Given the description of an element on the screen output the (x, y) to click on. 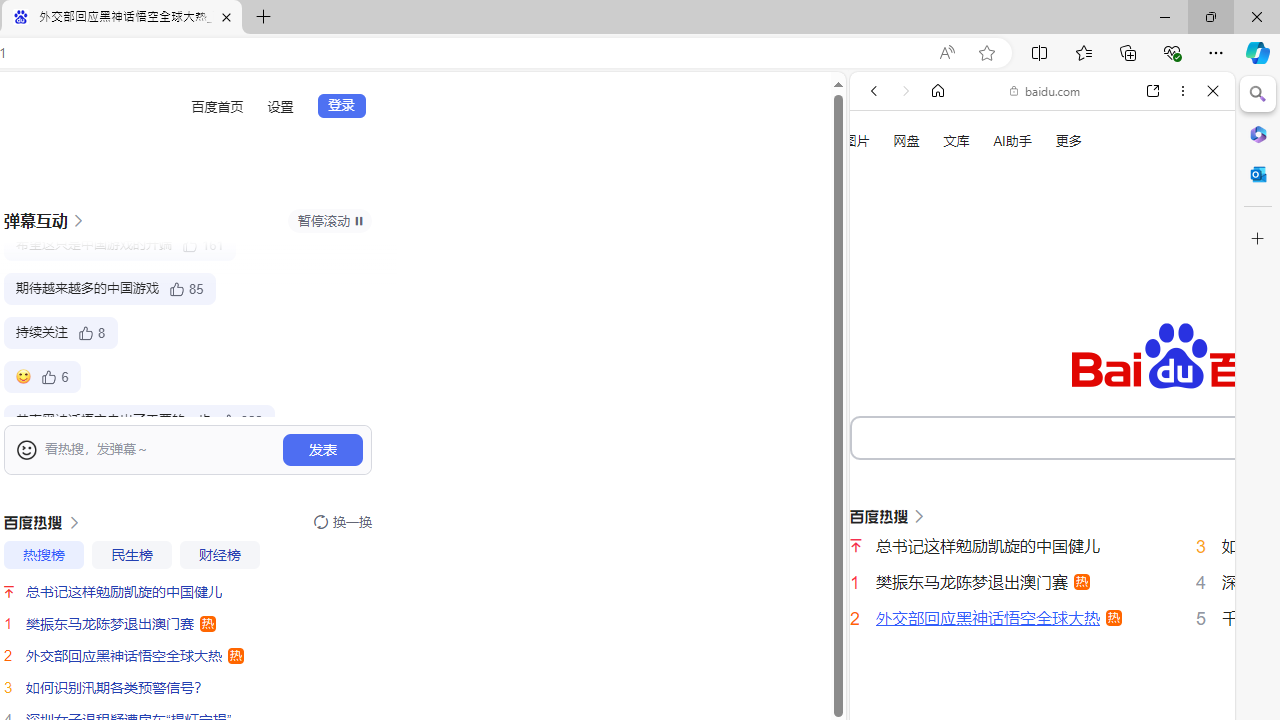
OF | English meaning - Cambridge Dictionary (1034, 419)
